Given the description of an element on the screen output the (x, y) to click on. 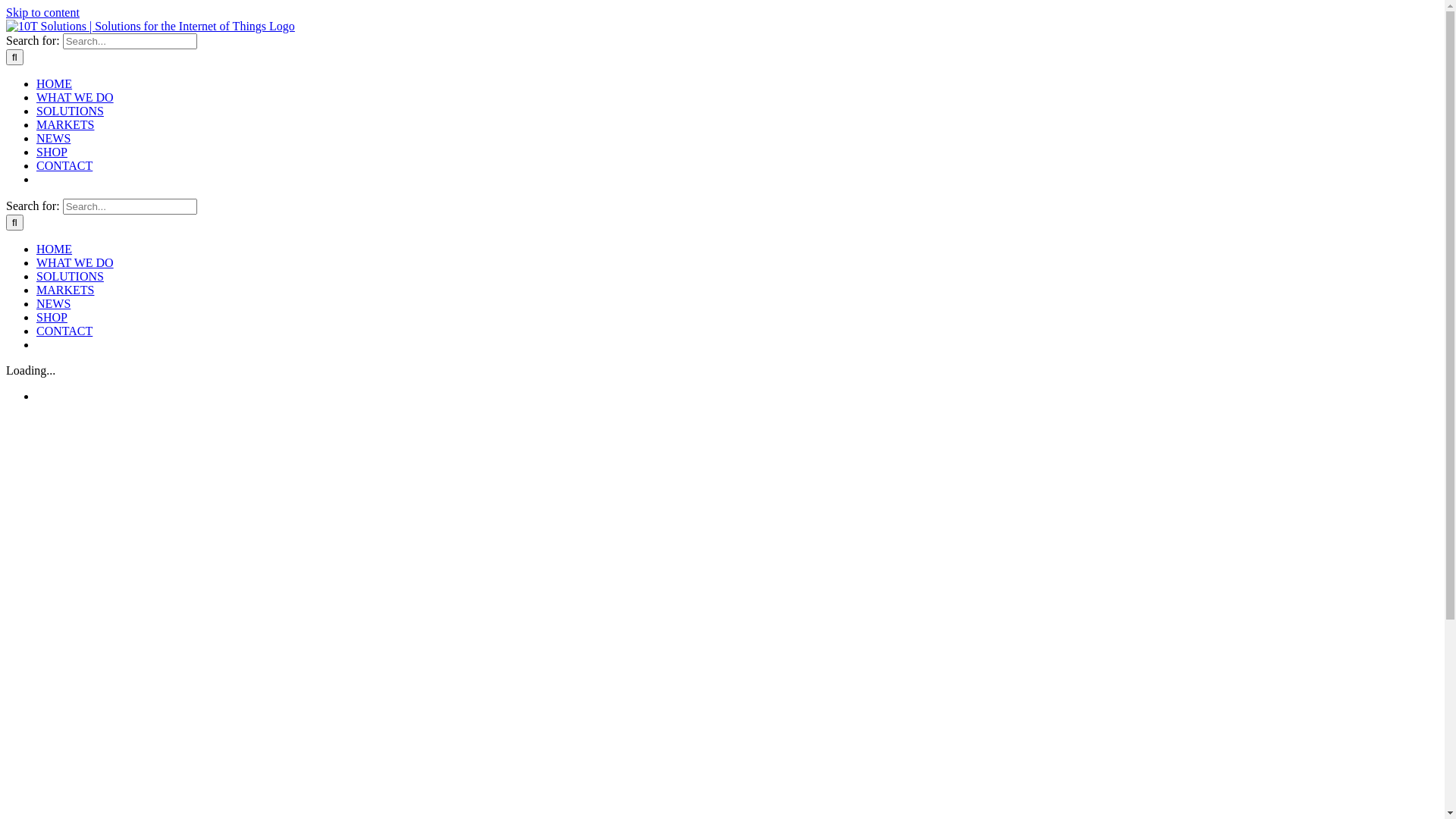
MARKETS Element type: text (65, 289)
SHOP Element type: text (51, 151)
CONTACT Element type: text (64, 330)
WHAT WE DO Element type: text (74, 97)
CONTACT Element type: text (64, 165)
SOLUTIONS Element type: text (69, 110)
NEWS Element type: text (53, 303)
SHOP Element type: text (51, 316)
MARKETS Element type: text (65, 124)
HOME Element type: text (54, 248)
Skip to content Element type: text (42, 12)
WHAT WE DO Element type: text (74, 262)
HOME Element type: text (54, 83)
NEWS Element type: text (53, 137)
SOLUTIONS Element type: text (69, 275)
